Given the description of an element on the screen output the (x, y) to click on. 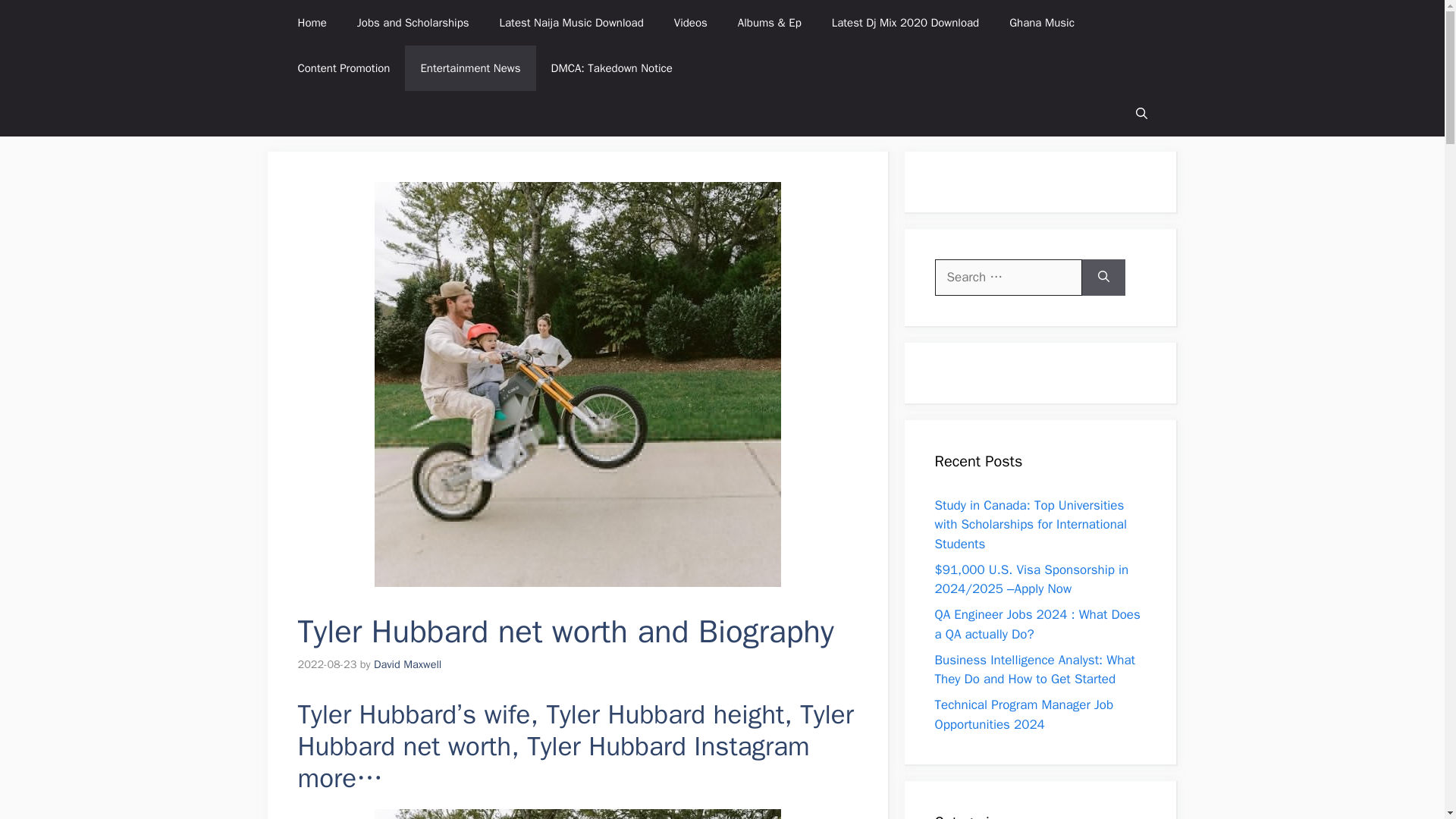
Videos (690, 22)
QA Engineer Jobs 2024 : What Does a QA actually Do? (1037, 624)
Home (311, 22)
Latest Dj Mix 2020 Download (905, 22)
Ghana Music (1041, 22)
Content Promotion (343, 67)
Jobs and Scholarships (413, 22)
Technical Program Manager Job Opportunities 2024 (1023, 714)
